Given the description of an element on the screen output the (x, y) to click on. 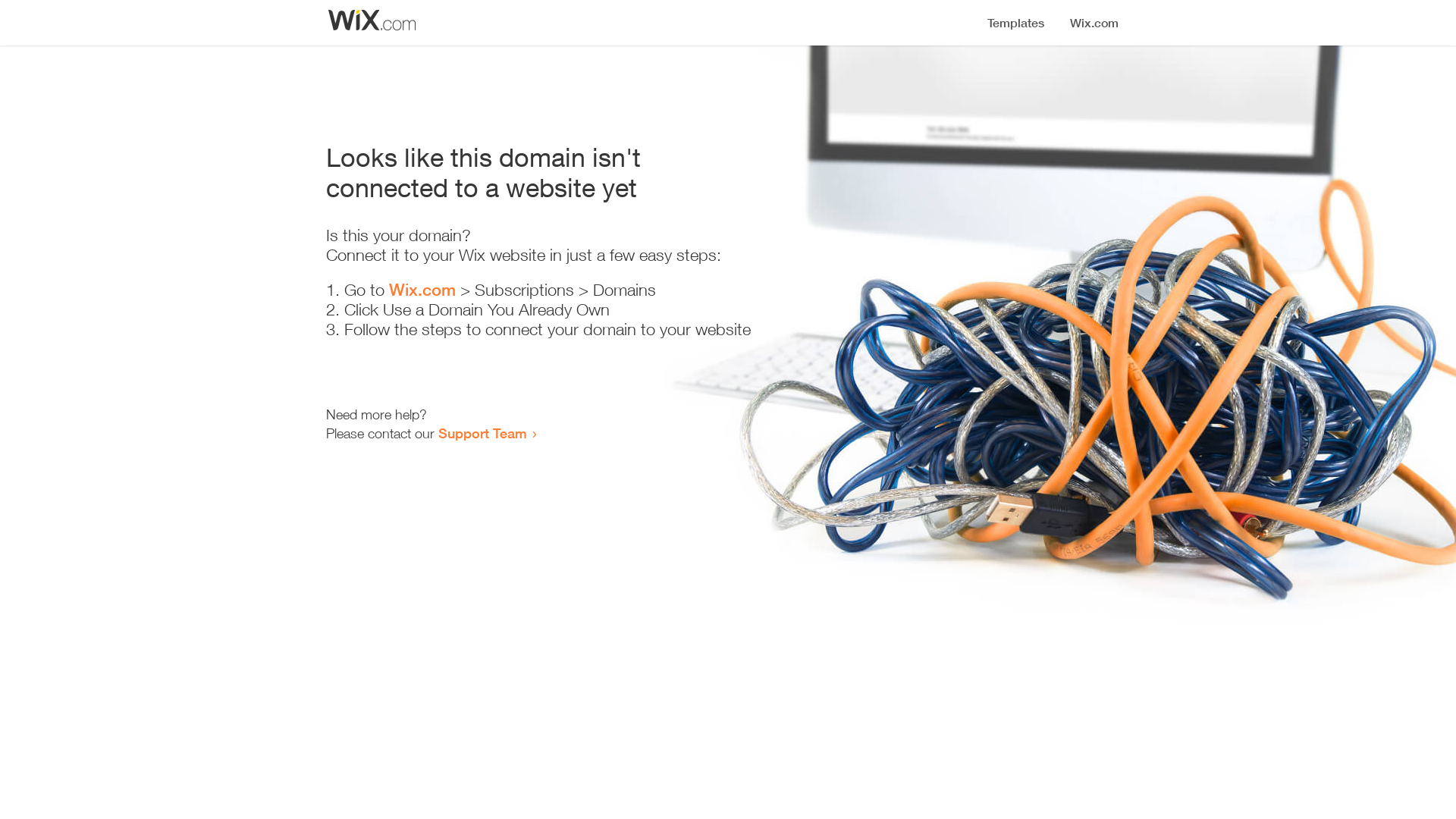
Wix.com Element type: text (422, 289)
Support Team Element type: text (482, 432)
